Given the description of an element on the screen output the (x, y) to click on. 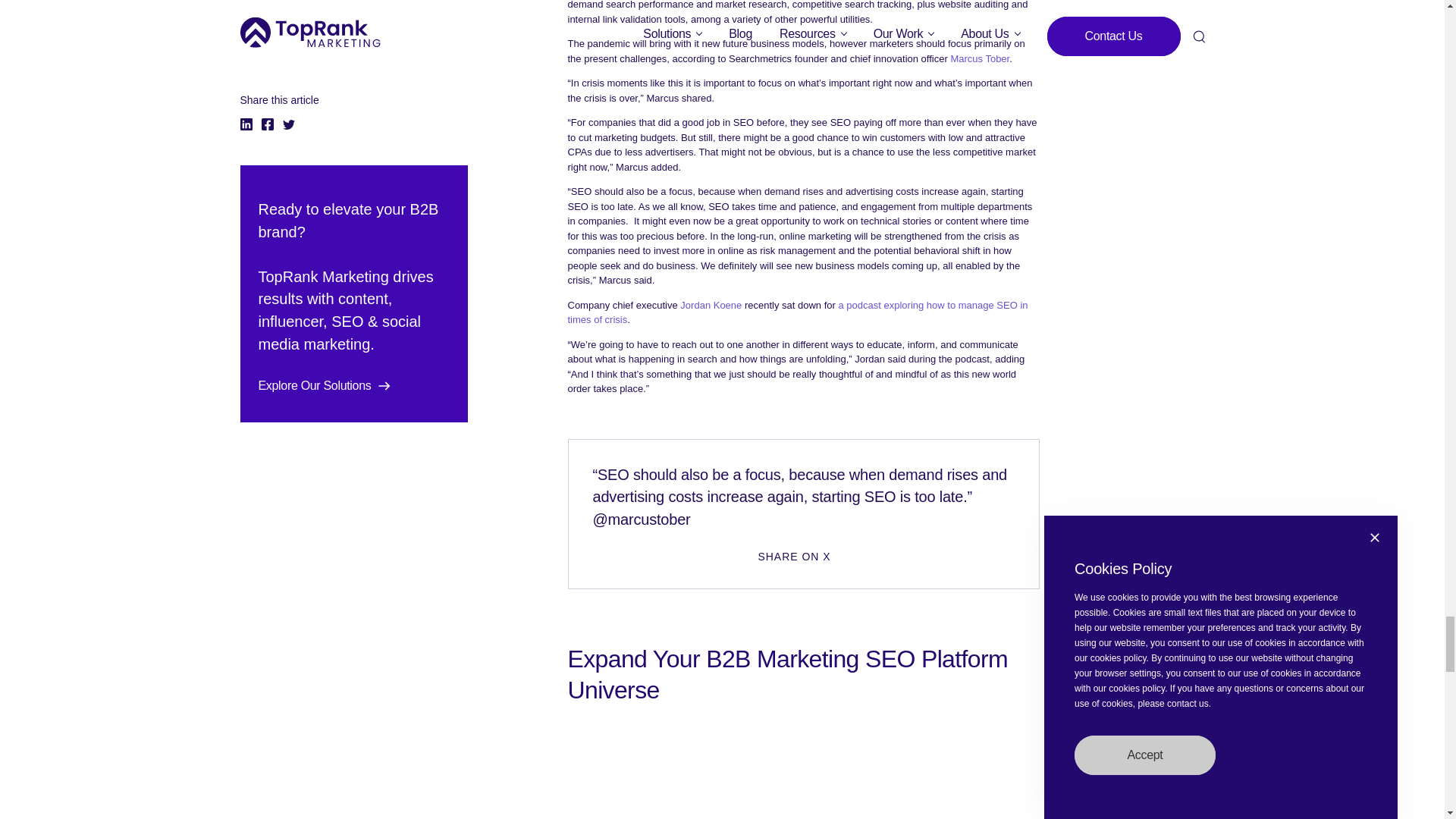
Expand Your B2B Marketing SEO Platform Universe (803, 674)
